Given the description of an element on the screen output the (x, y) to click on. 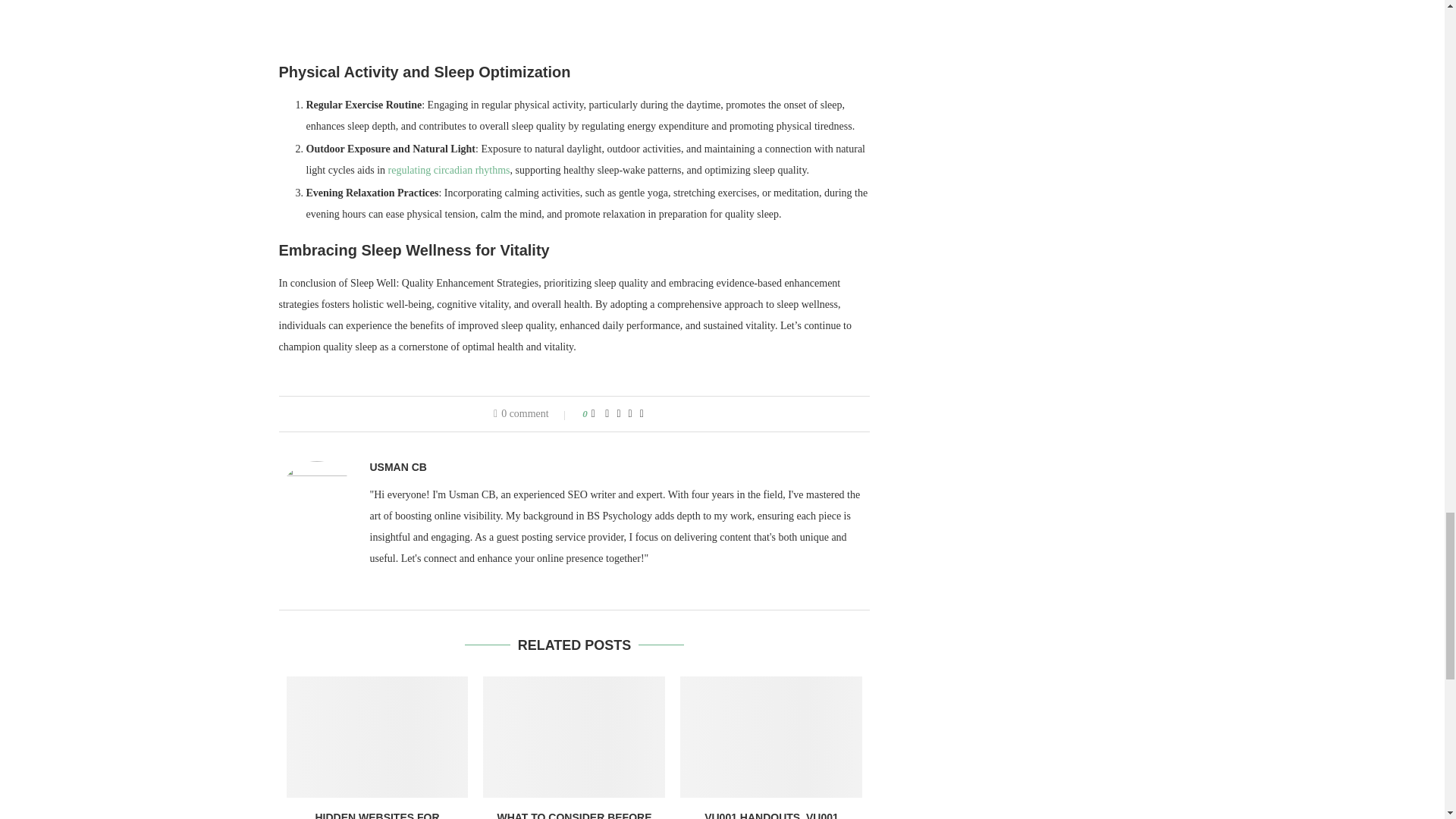
Advertisement (574, 28)
